Given the description of an element on the screen output the (x, y) to click on. 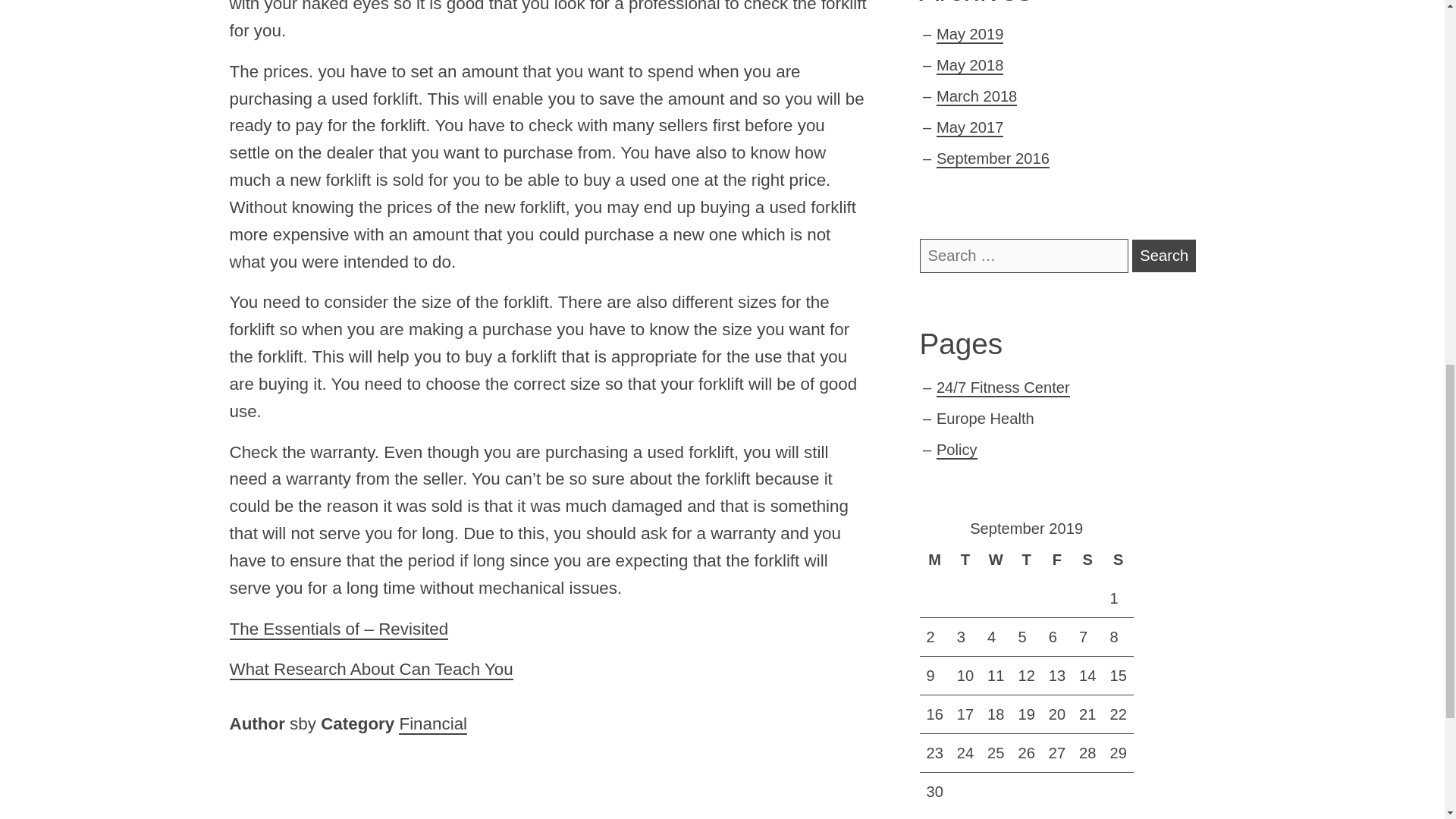
March 2018 (976, 96)
What Research About Can Teach You (370, 670)
September 2016 (992, 158)
Financial (432, 724)
May 2019 (970, 34)
Search (1163, 255)
May 2018 (970, 65)
Europe Health (984, 418)
May 2017 (970, 127)
Search (1163, 255)
